Given the description of an element on the screen output the (x, y) to click on. 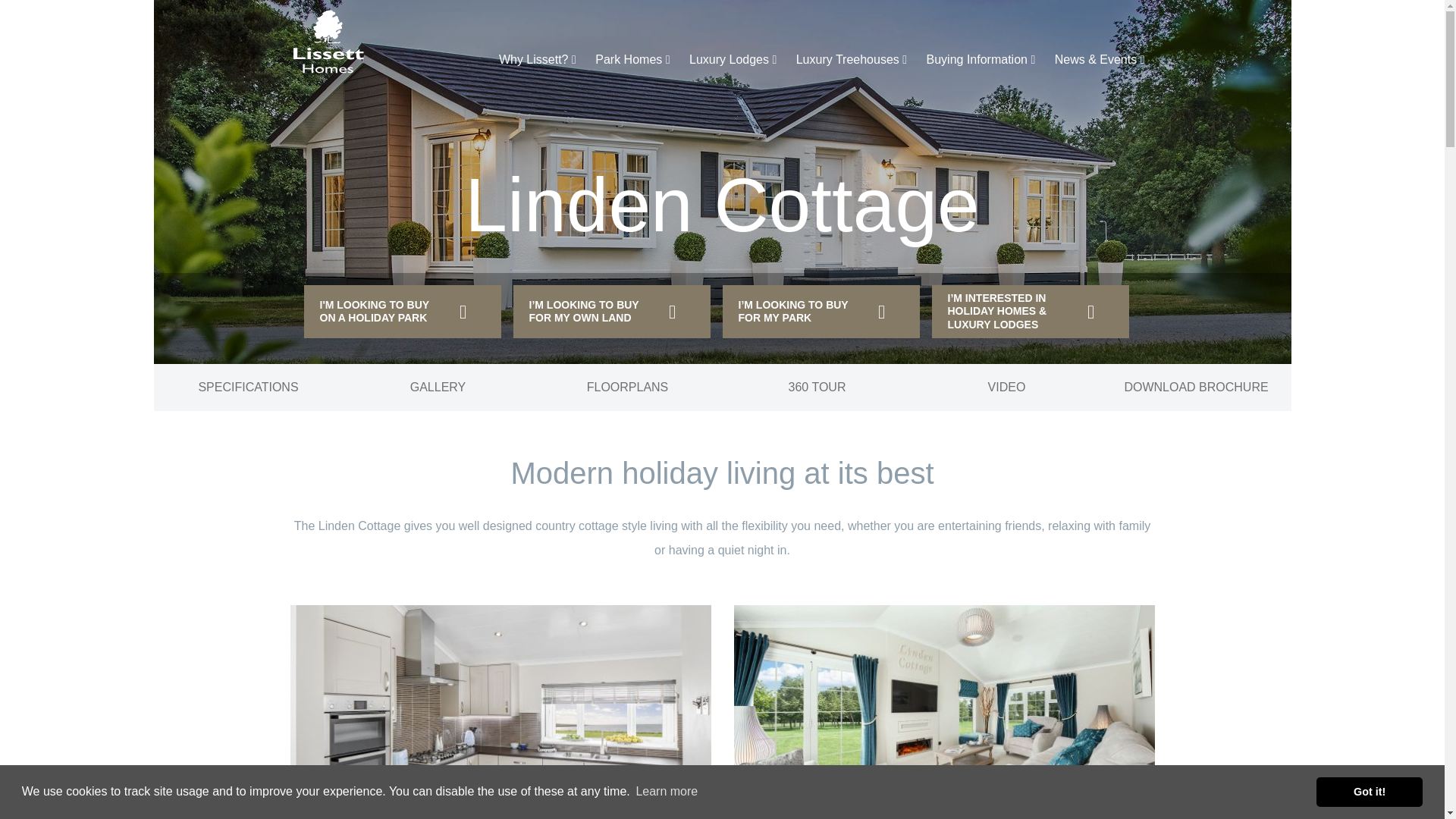
Why Lissett? (537, 59)
Home (351, 41)
Park Homes (632, 59)
Buying Information (981, 59)
Learn more (666, 791)
Luxury Treehouses (851, 59)
Got it! (1369, 791)
Luxury Lodges (732, 59)
